Given the description of an element on the screen output the (x, y) to click on. 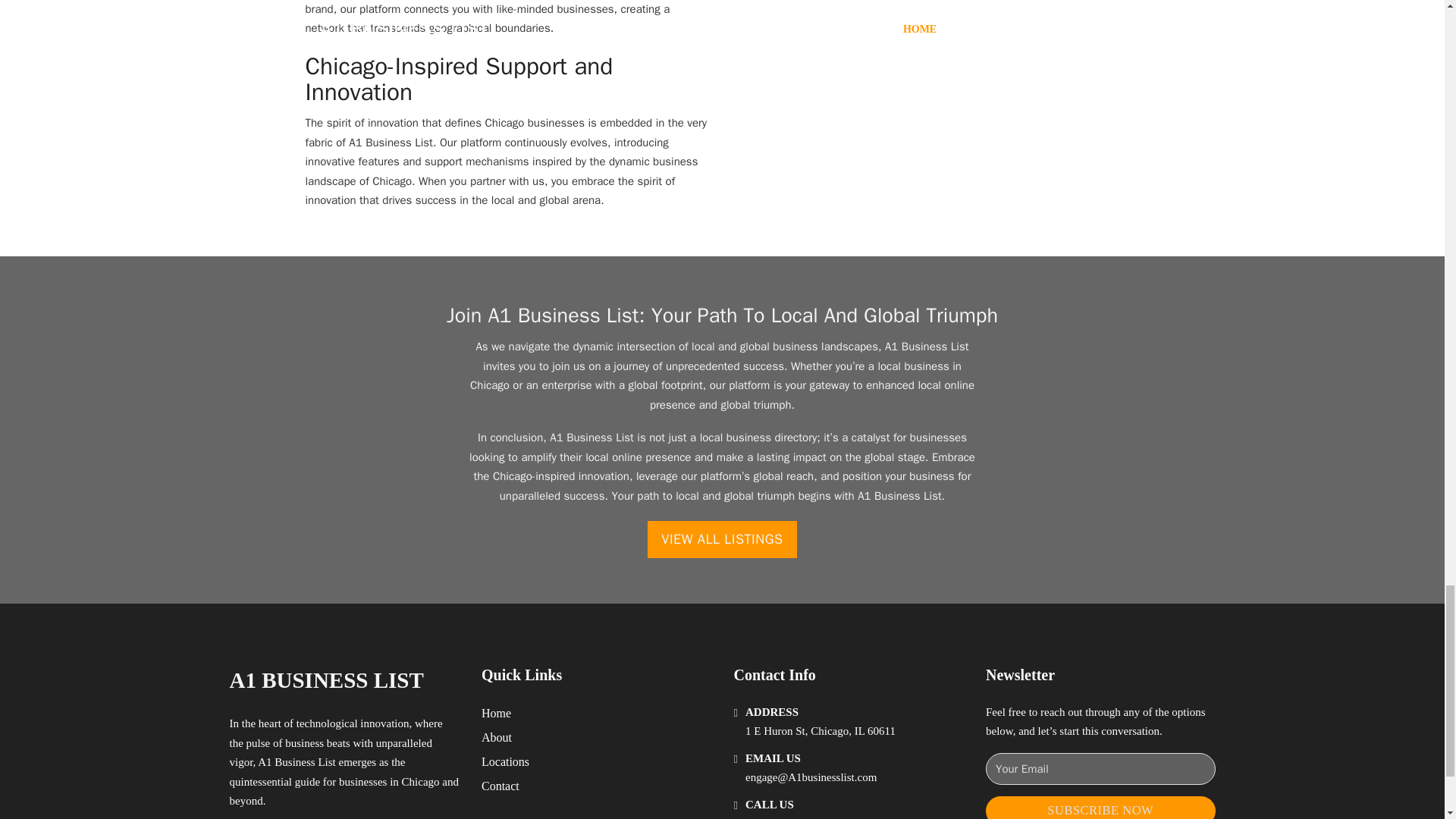
SUBSCRIBE NOW (1100, 807)
A1 BUSINESS LIST (325, 680)
872-666-9740 (777, 818)
VIEW ALL LISTINGS (721, 538)
Locations (505, 761)
Home (496, 712)
Contact (500, 785)
About (496, 737)
